Given the description of an element on the screen output the (x, y) to click on. 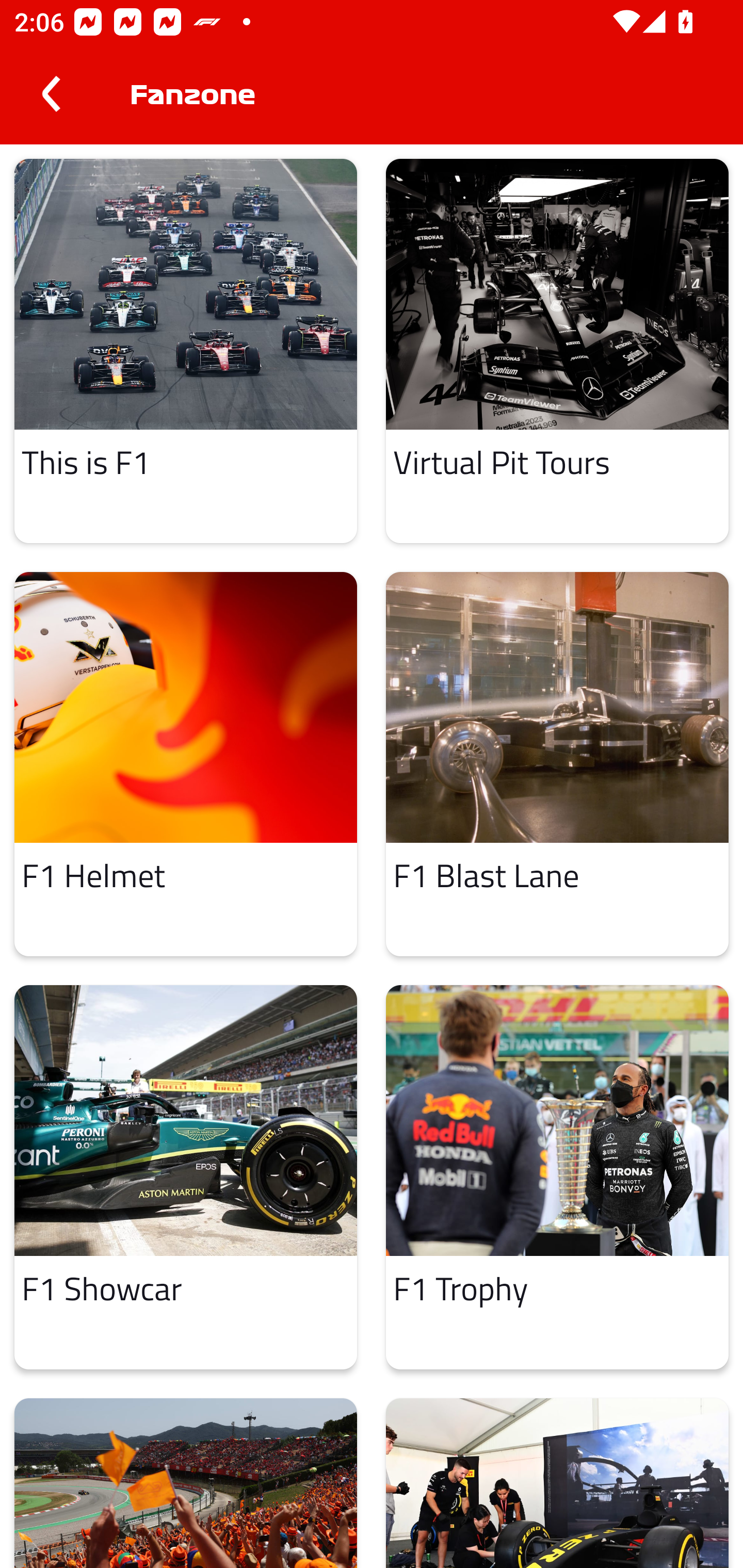
Navigate up (50, 93)
This is F1 (185, 350)
Virtual Pit Tours (556, 350)
F1 Helmet (185, 764)
F1 Blast Lane (556, 764)
F1 Showcar (185, 1176)
F1 Trophy (556, 1176)
